Given the description of an element on the screen output the (x, y) to click on. 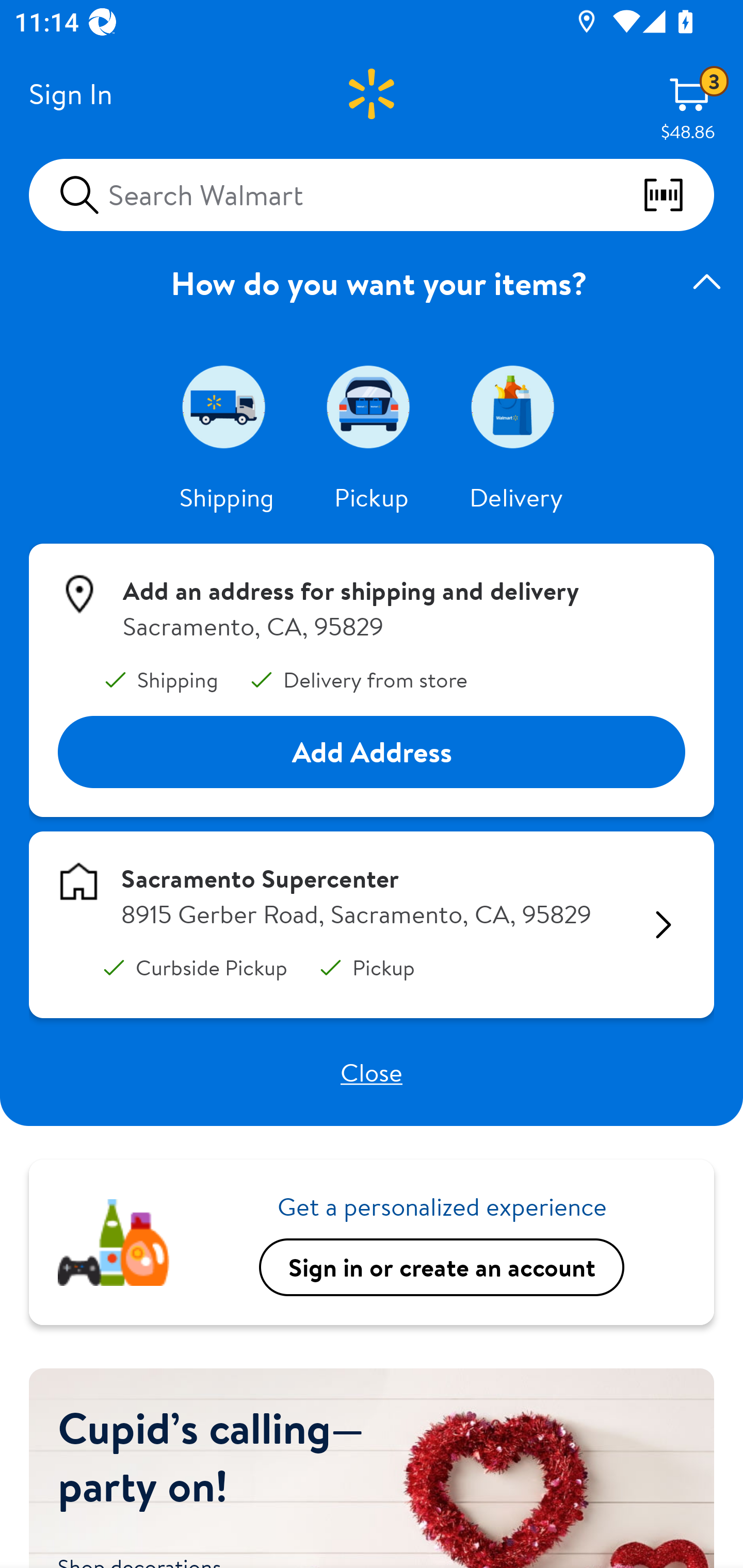
Sign In (70, 93)
Search Walmart scan barcodes qr codes and more (371, 194)
scan barcodes qr codes and more (677, 195)
How do you want your items? expanded (371, 282)
Shipping 1 of 3 (226, 406)
Pickup 2 of 3 (371, 406)
Delivery 3 of 3 (515, 406)
Add Address (371, 752)
Close (371, 1072)
Sign in or create an account (441, 1267)
